Given the description of an element on the screen output the (x, y) to click on. 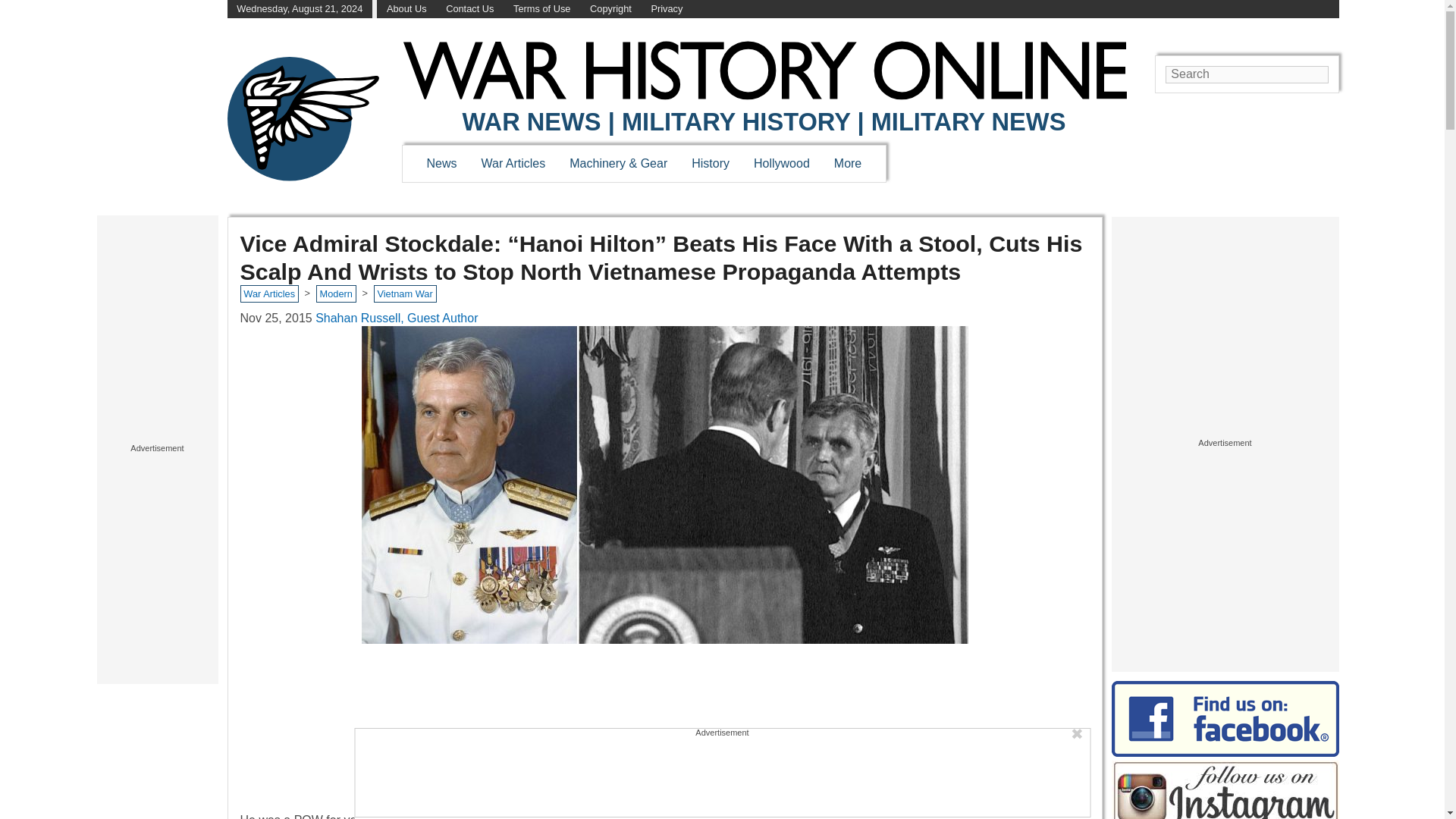
More (847, 163)
War Articles (513, 163)
Copyright (610, 8)
Privacy (666, 8)
Hollywood (781, 163)
Contact Us (469, 8)
News (441, 163)
About Us (406, 8)
Terms of Use (541, 8)
History (710, 163)
